Given the description of an element on the screen output the (x, y) to click on. 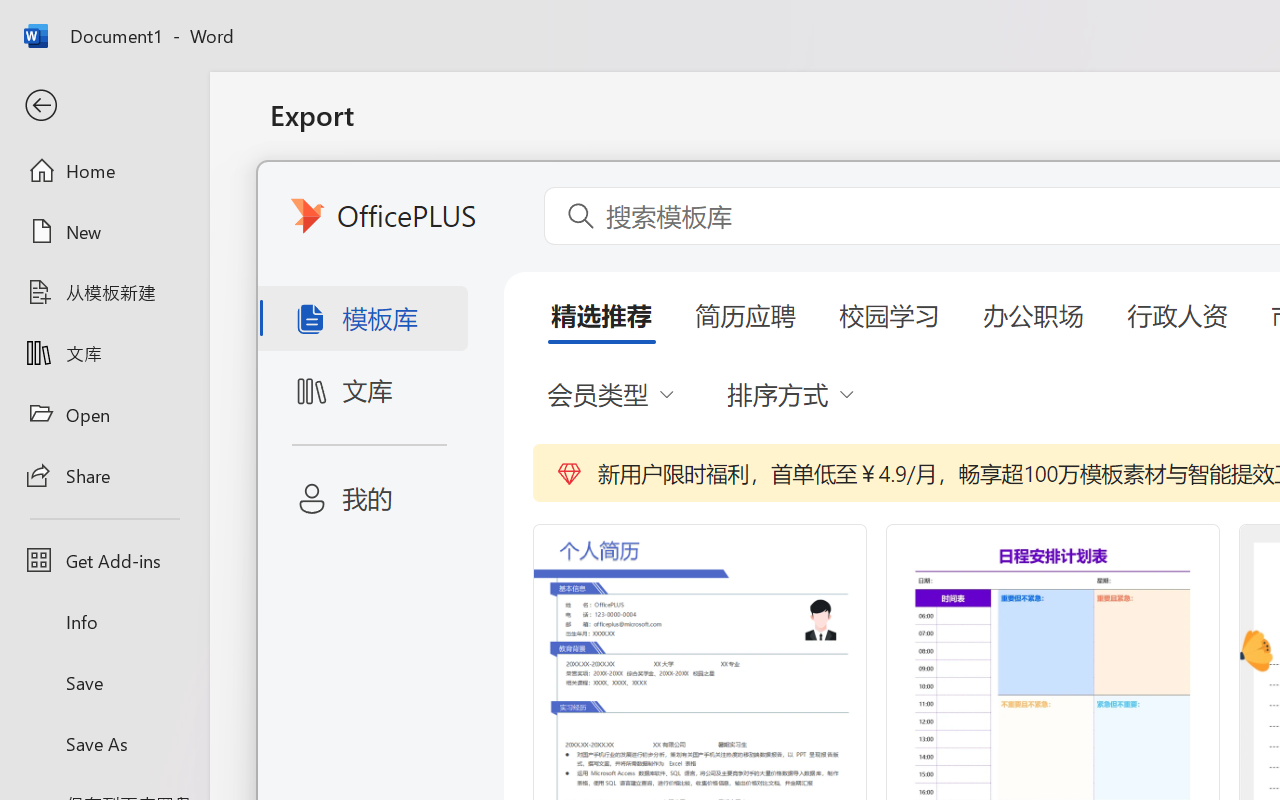
Send documents to Kindle (507, 378)
Get Add-ins (104, 560)
Back (104, 106)
Save As (104, 743)
